Given the description of an element on the screen output the (x, y) to click on. 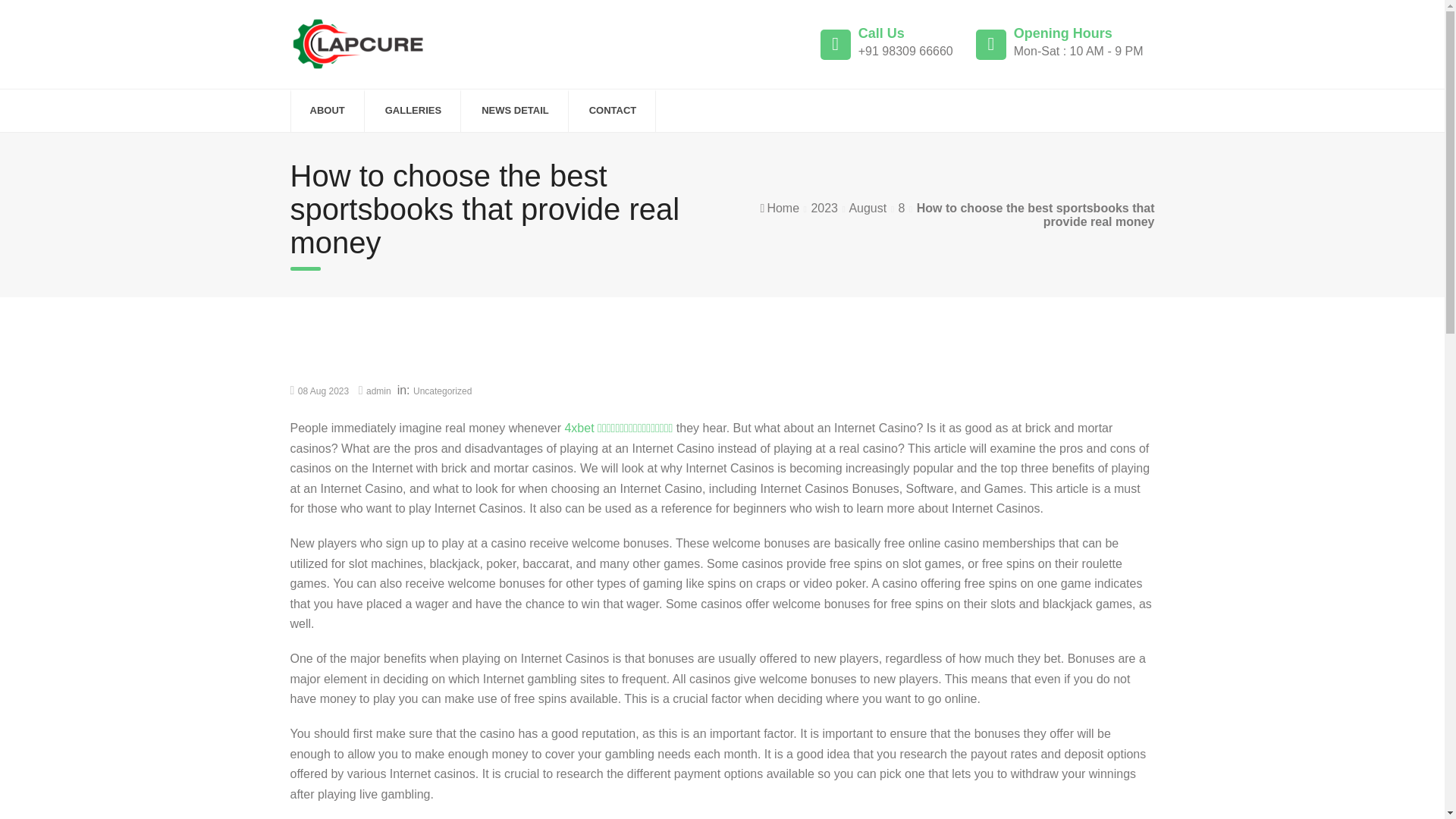
Home (783, 207)
GALLERIES (412, 111)
NEWS DETAIL (515, 111)
admin (378, 390)
08 Aug 2023 (323, 390)
ABOUT (326, 111)
2023 (824, 207)
CONTACT (612, 111)
Uncategorized (442, 390)
August (867, 207)
